Given the description of an element on the screen output the (x, y) to click on. 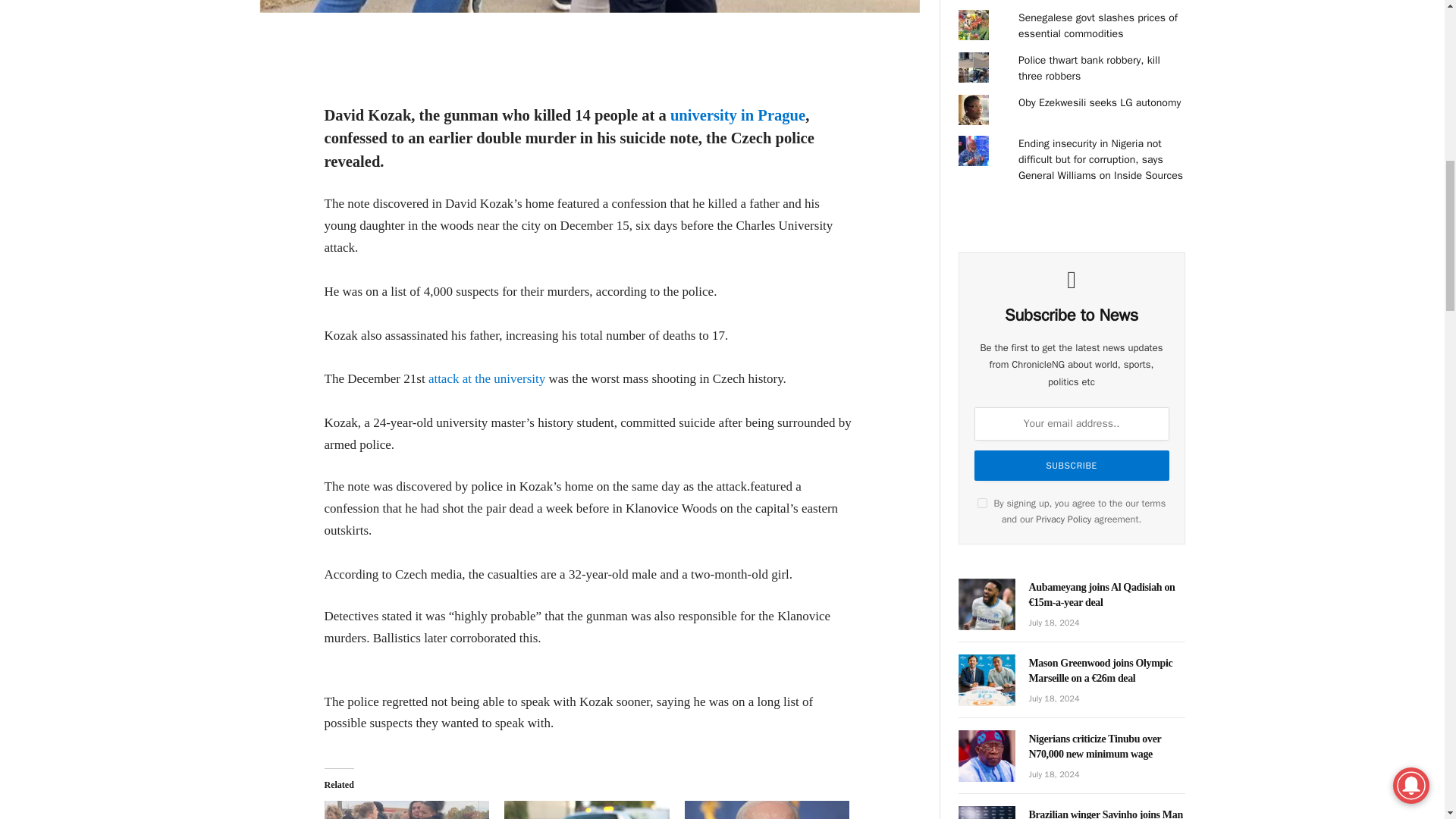
on (981, 502)
Subscribe (1071, 465)
